Given the description of an element on the screen output the (x, y) to click on. 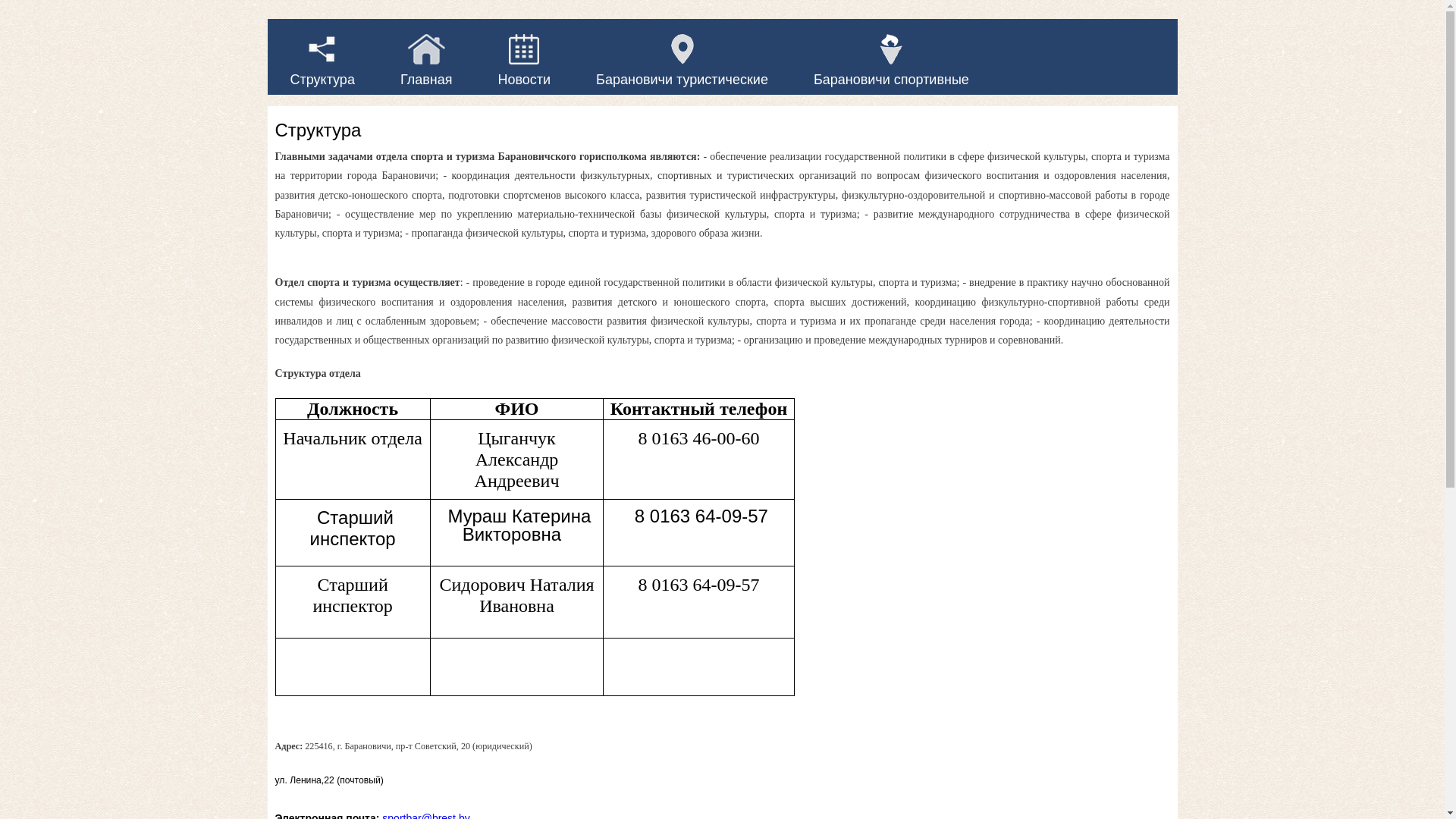
  Element type: text (272, 9)
